Given the description of an element on the screen output the (x, y) to click on. 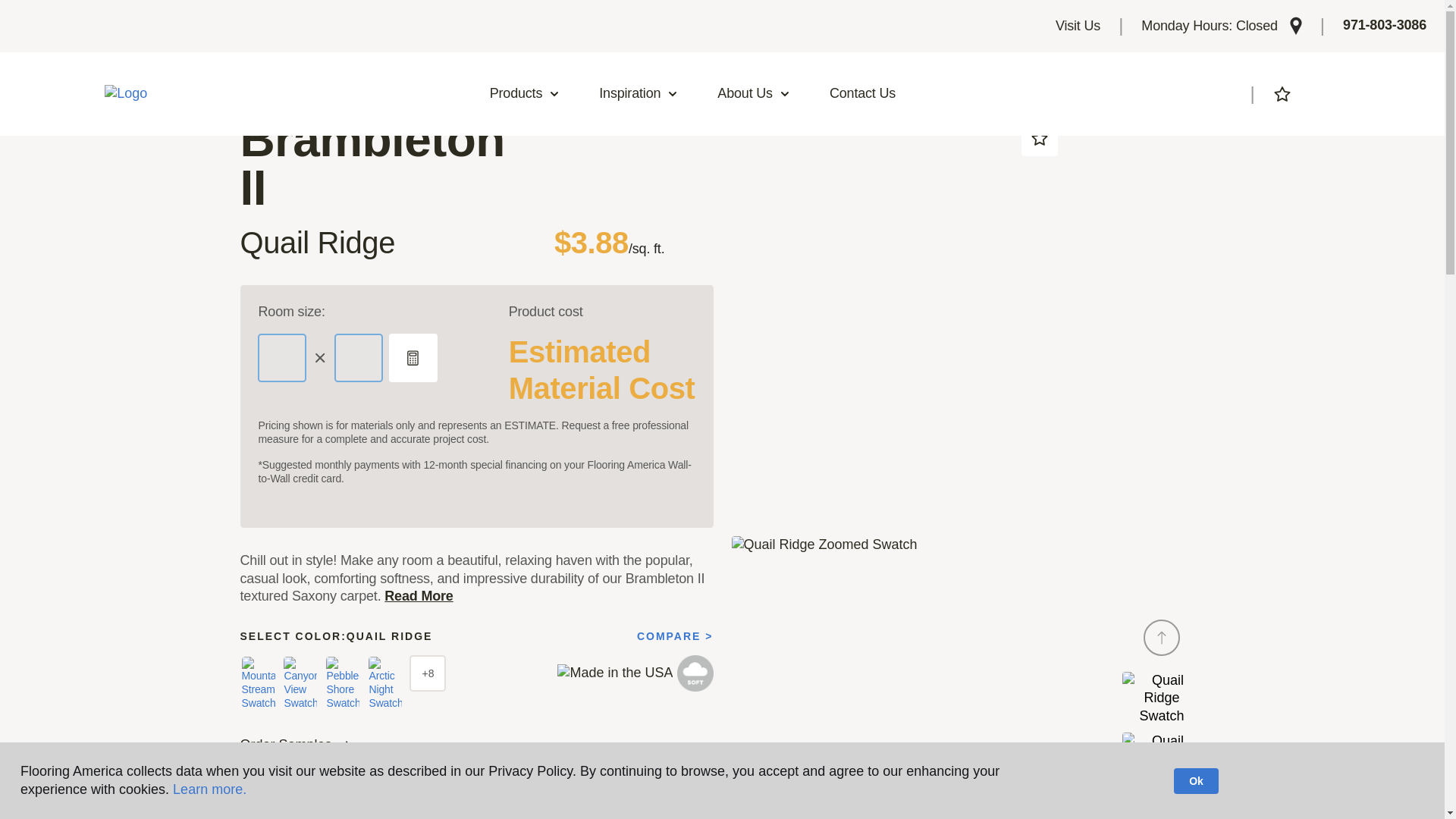
Arctic Night (384, 683)
Inspiration (638, 94)
Canyon View (300, 683)
Mountain Stream (258, 683)
Visit Us (1077, 26)
Contact Us (862, 94)
971-803-3086 (1384, 25)
Products (525, 94)
About Us (753, 94)
Pebbled Shore (342, 683)
